Given the description of an element on the screen output the (x, y) to click on. 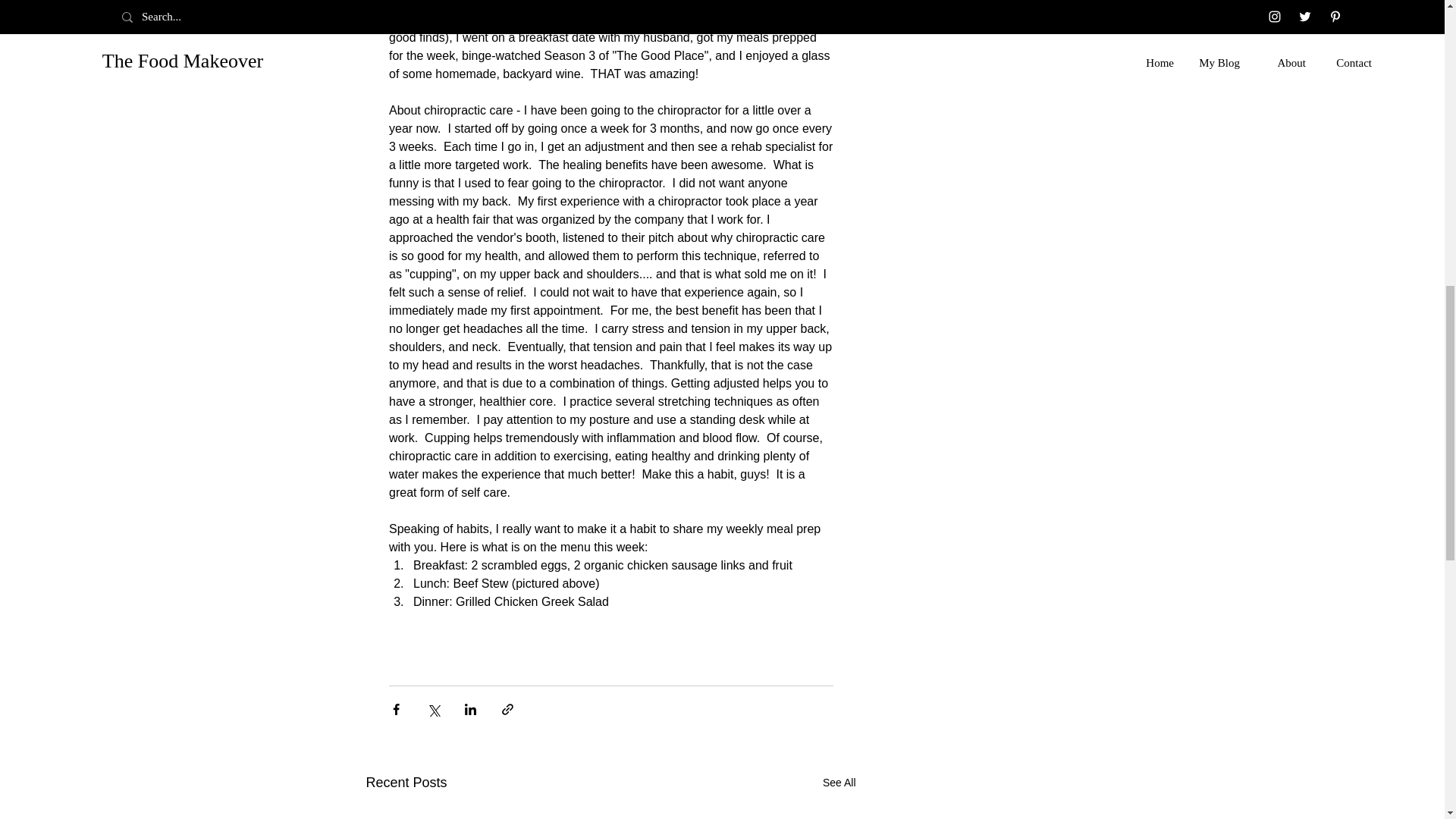
See All (839, 782)
